Given the description of an element on the screen output the (x, y) to click on. 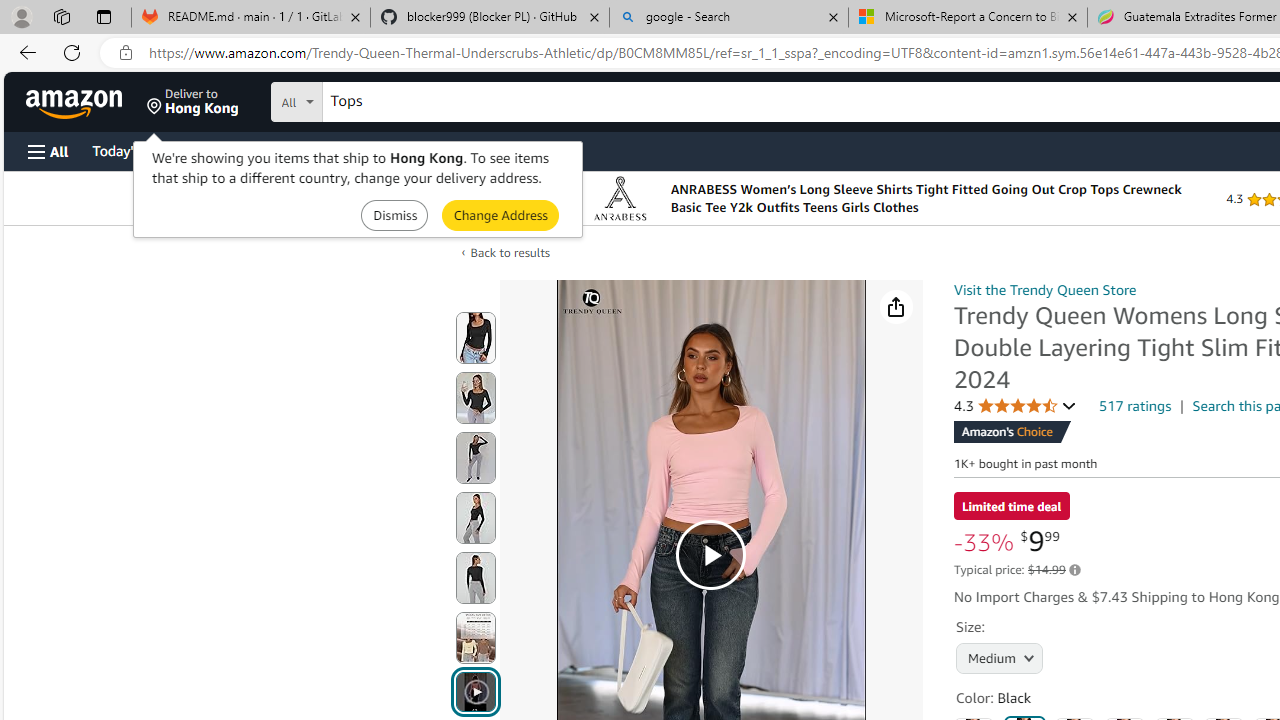
Gift Cards (442, 150)
Customer Service (256, 150)
Learn more about Amazon pricing and savings (1074, 570)
4.3 4.3 out of 5 stars (1015, 406)
google - Search (729, 17)
Skip to main content (86, 100)
Submit (499, 214)
517 ratings (1135, 405)
Deliver to Hong Kong (193, 101)
Registry (360, 150)
